Given the description of an element on the screen output the (x, y) to click on. 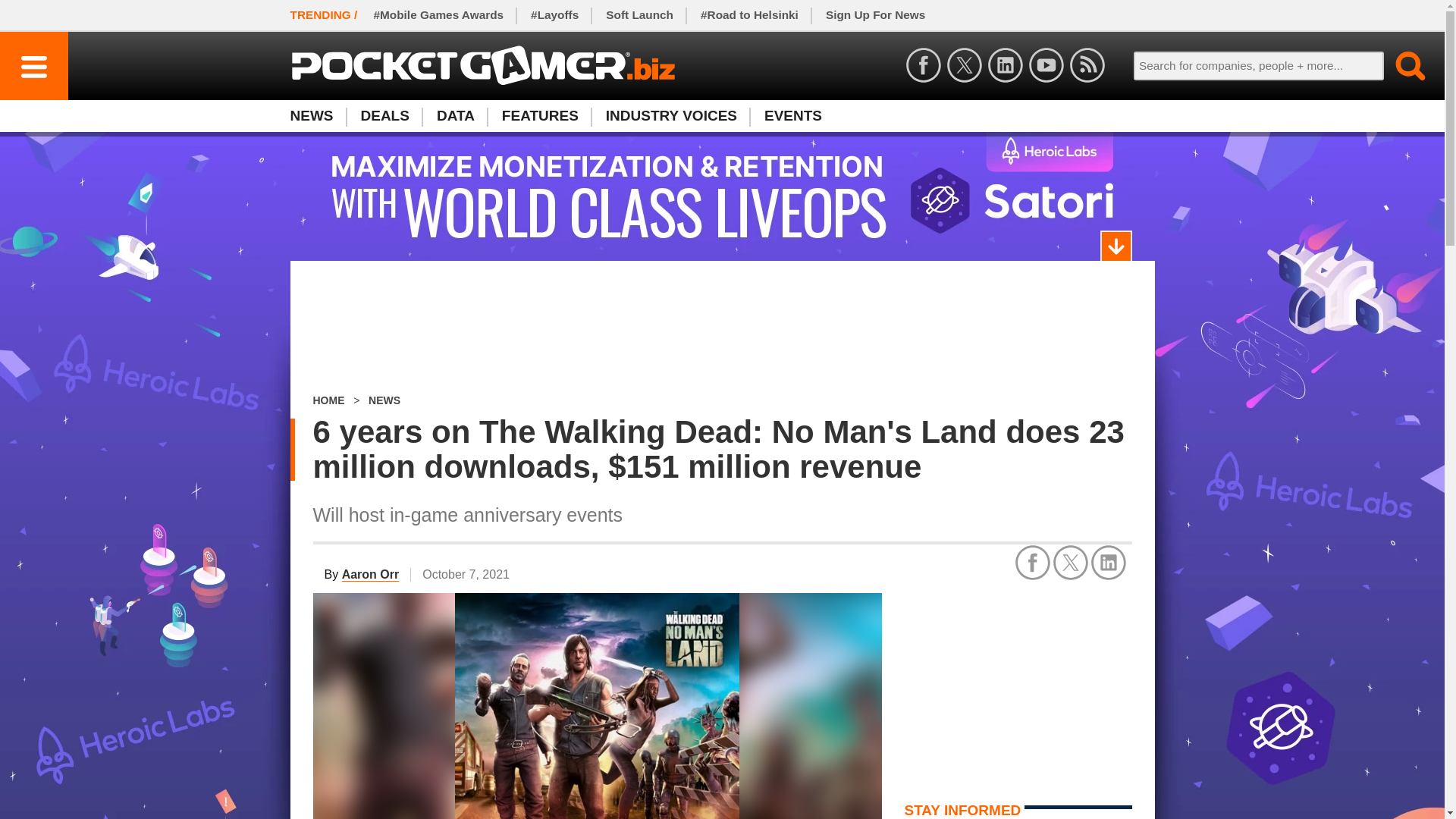
DATA (455, 115)
NEWS (384, 400)
3rd party ad content (722, 328)
NEWS (317, 115)
Go (1402, 65)
3rd party ad content (1017, 687)
Sign Up For News (721, 115)
HOME (875, 15)
DEALS (328, 400)
